Given the description of an element on the screen output the (x, y) to click on. 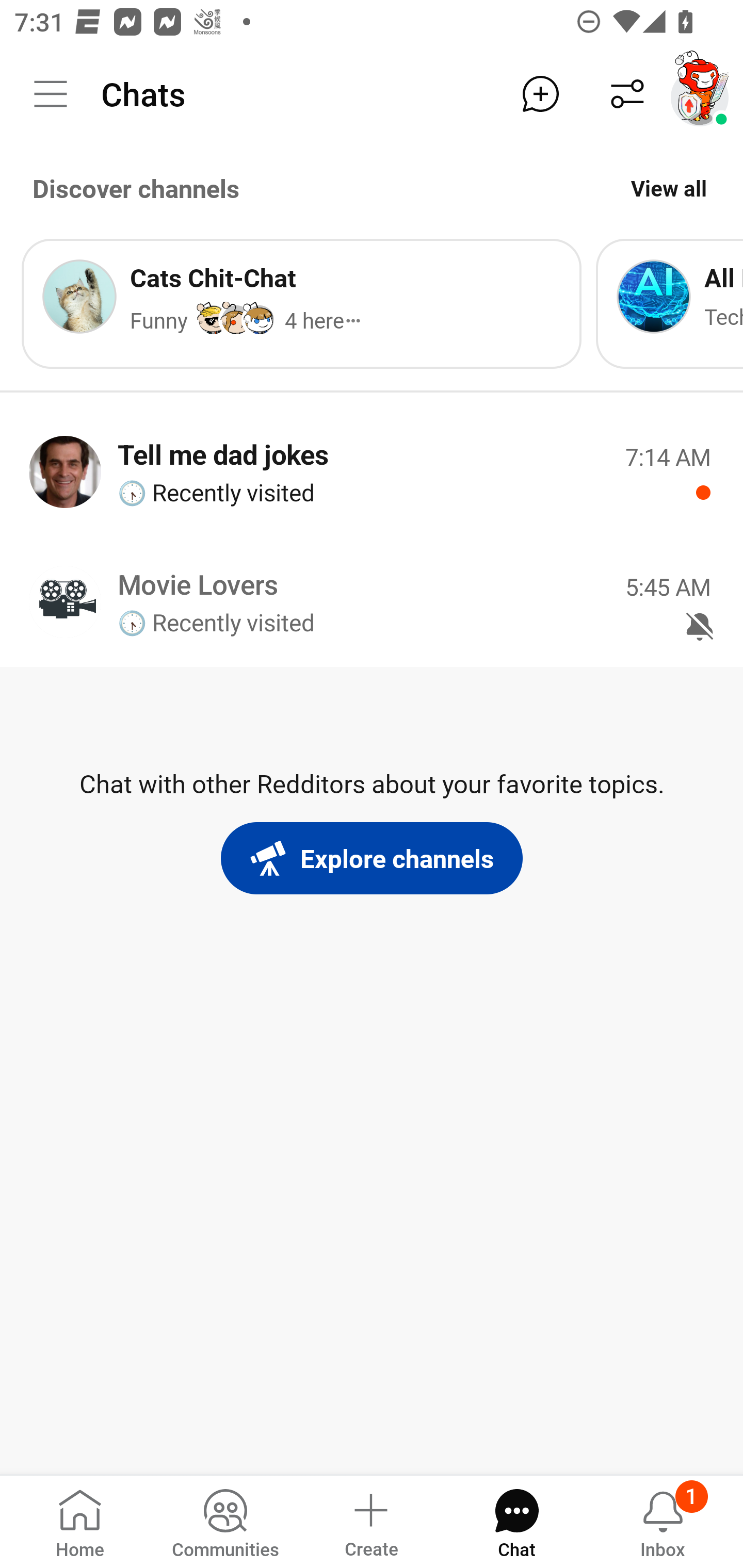
Community menu (50, 93)
New chat (540, 93)
Filter chats (626, 93)
TestAppium002 account (699, 93)
View all (668, 188)
Chat icon Cats Chit-Chat Funny 4 here (301, 303)
Tell me dad jokes 7:14 AM 🕟 Recently visited (371, 471)
Movie Lovers 5:45 AM 🕟 Recently visited Muted (371, 601)
Explore channels (371, 858)
Home (80, 1520)
Communities (225, 1520)
Create a post Create (370, 1520)
Chat (516, 1520)
Inbox, has 1 notification 1 Inbox (662, 1520)
